Given the description of an element on the screen output the (x, y) to click on. 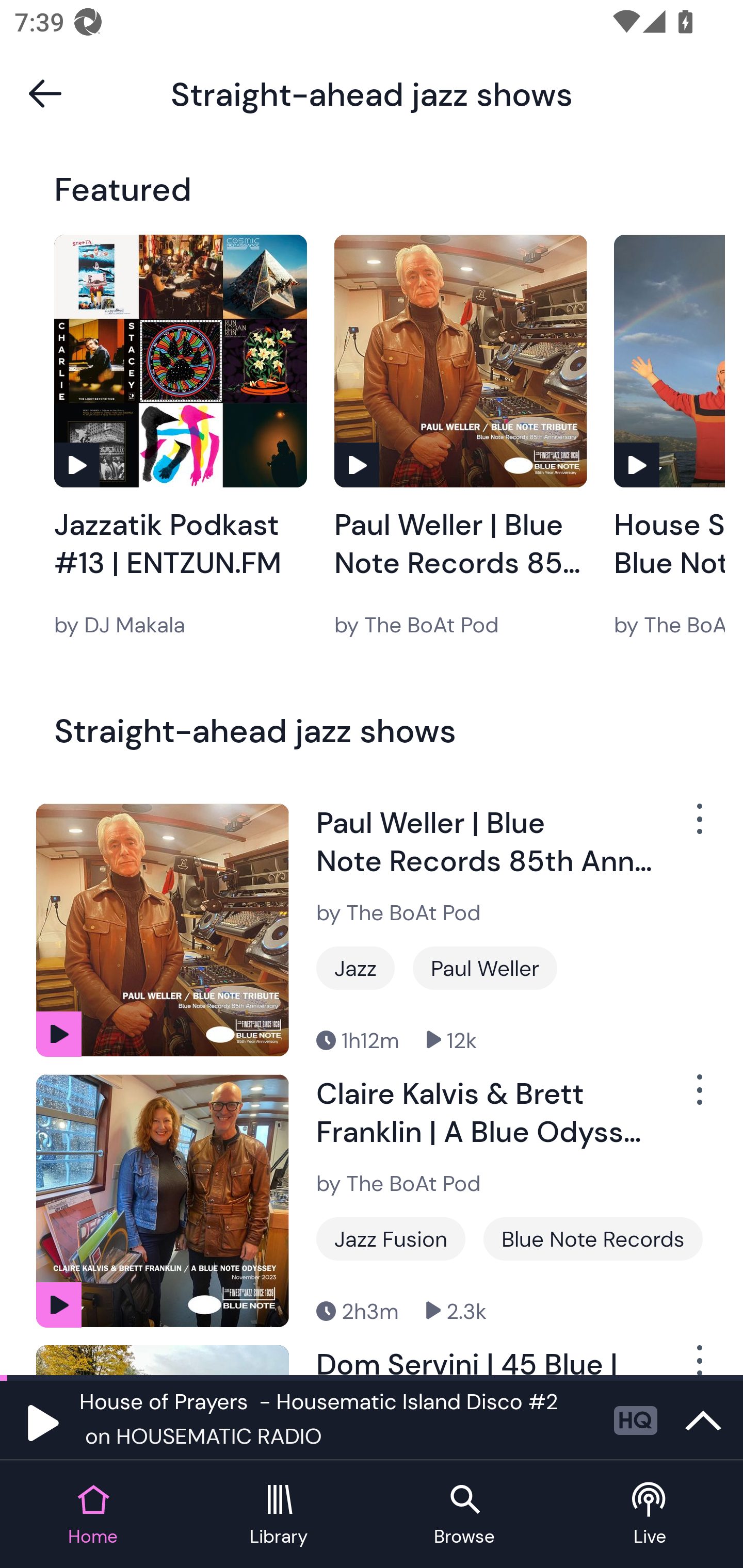
Show Options Menu Button (697, 825)
Jazz (355, 968)
Paul Weller (485, 968)
Show Options Menu Button (697, 1097)
Jazz Fusion (390, 1238)
Blue Note Records (592, 1238)
Show Options Menu Button (697, 1360)
Home tab Home (92, 1515)
Library tab Library (278, 1515)
Browse tab Browse (464, 1515)
Live tab Live (650, 1515)
